Given the description of an element on the screen output the (x, y) to click on. 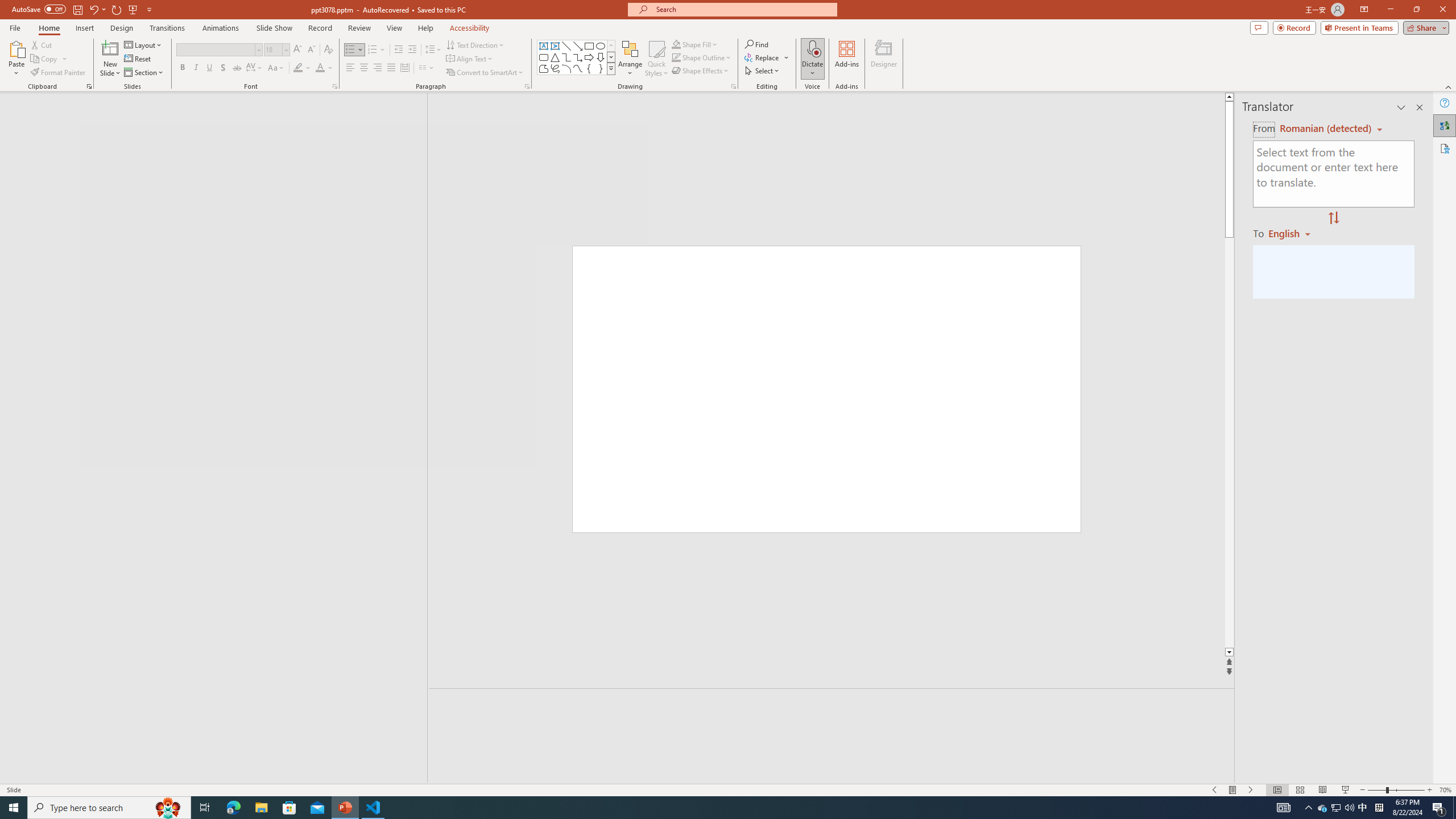
Italic (195, 67)
Connector: Elbow (566, 57)
Arrange (630, 58)
Text Box (543, 45)
Rectangle: Rounded Corners (543, 57)
Slide Notes (831, 705)
Numbering (376, 49)
Translator (1444, 125)
Distributed (404, 67)
Right Brace (600, 68)
